Given the description of an element on the screen output the (x, y) to click on. 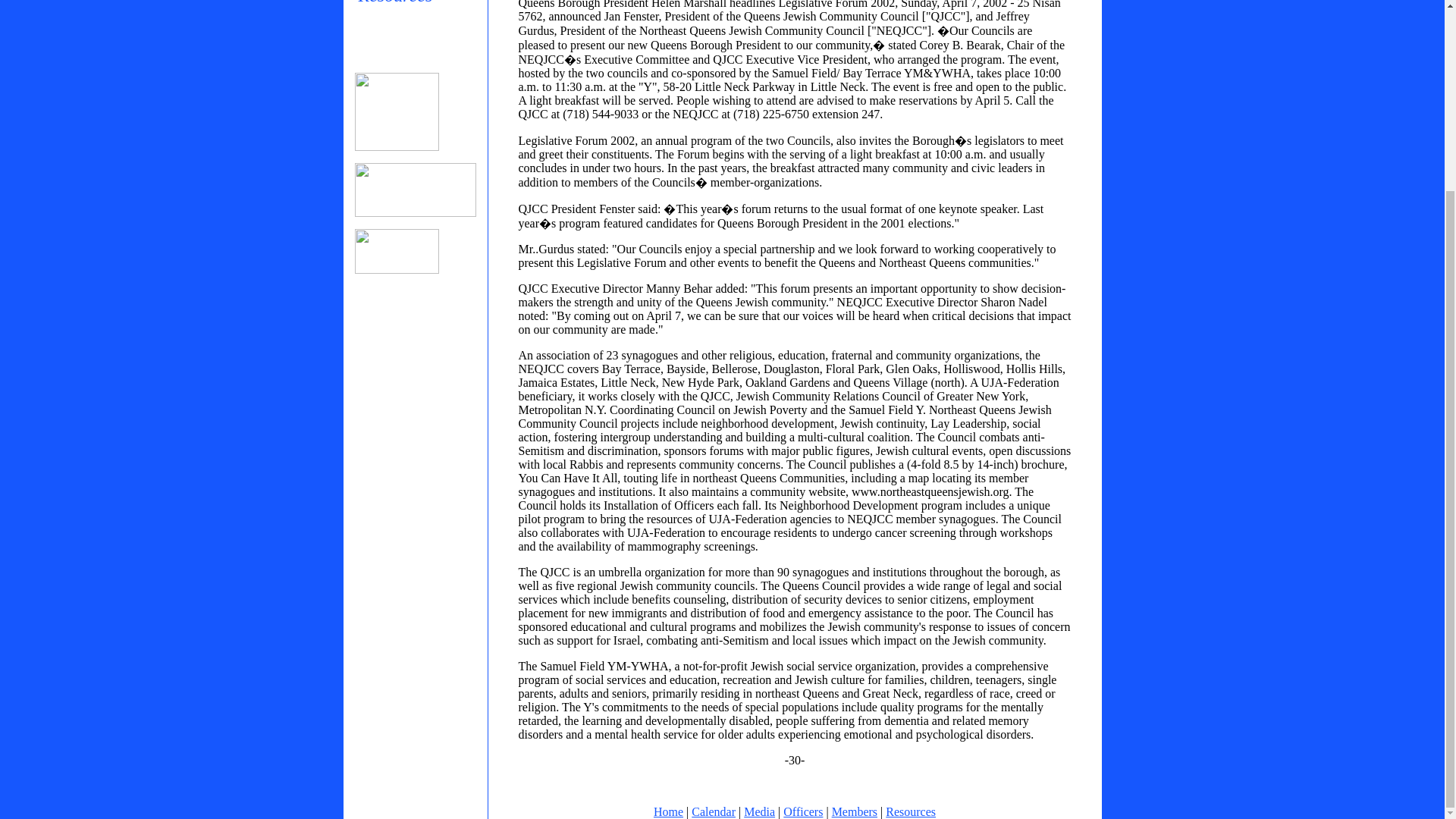
Calendar (713, 811)
Members (854, 811)
Resources (910, 811)
Home (667, 811)
Media (759, 811)
Resources (414, 3)
Officers (802, 811)
